Given the description of an element on the screen output the (x, y) to click on. 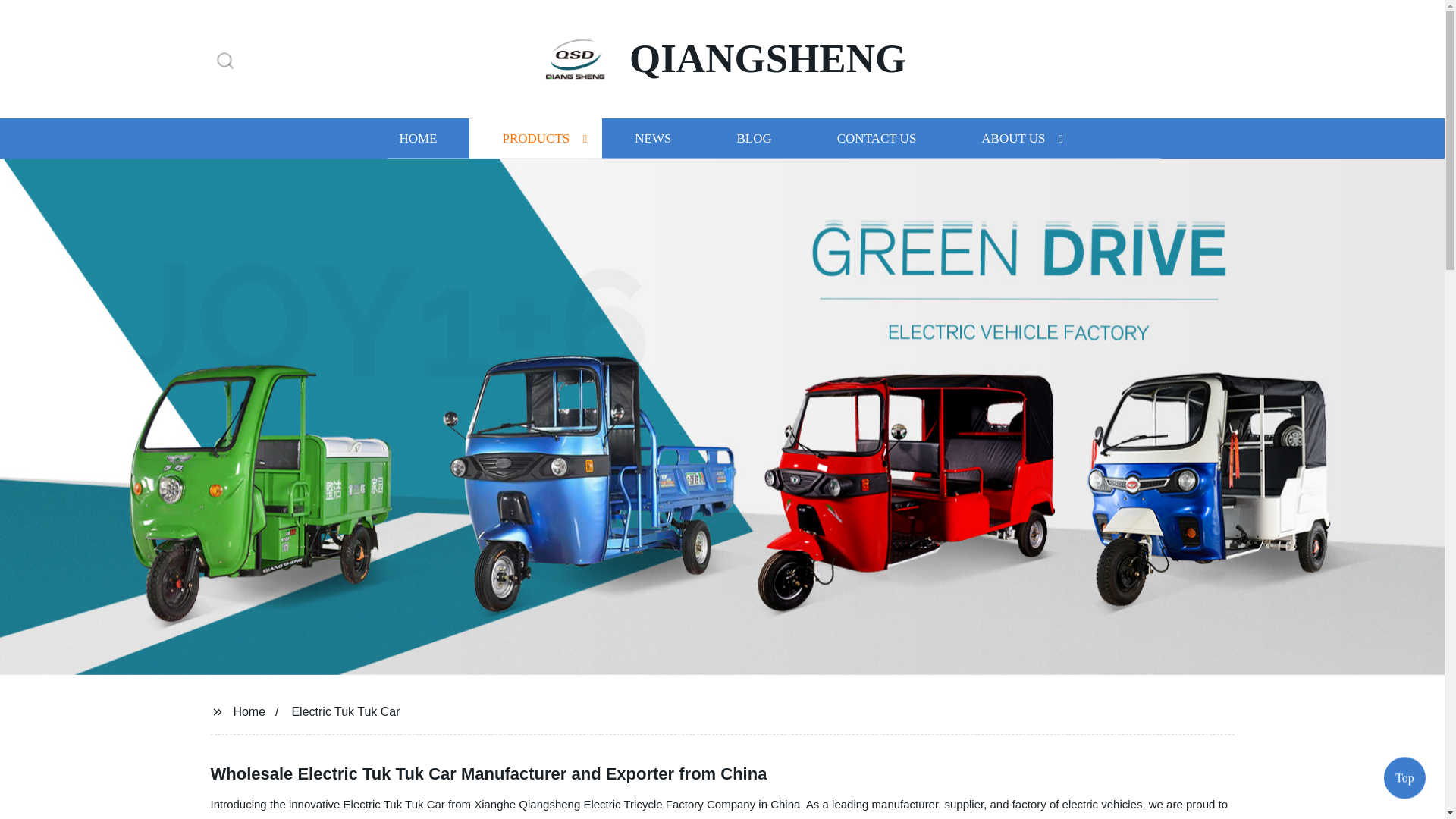
Electric Tuk Tuk Car (344, 711)
ABOUT US (1013, 137)
PRODUCTS (535, 137)
BLOG (753, 137)
Home (248, 711)
Top (1404, 779)
HOME (417, 137)
CONTACT US (877, 137)
NEWS (652, 137)
